Given the description of an element on the screen output the (x, y) to click on. 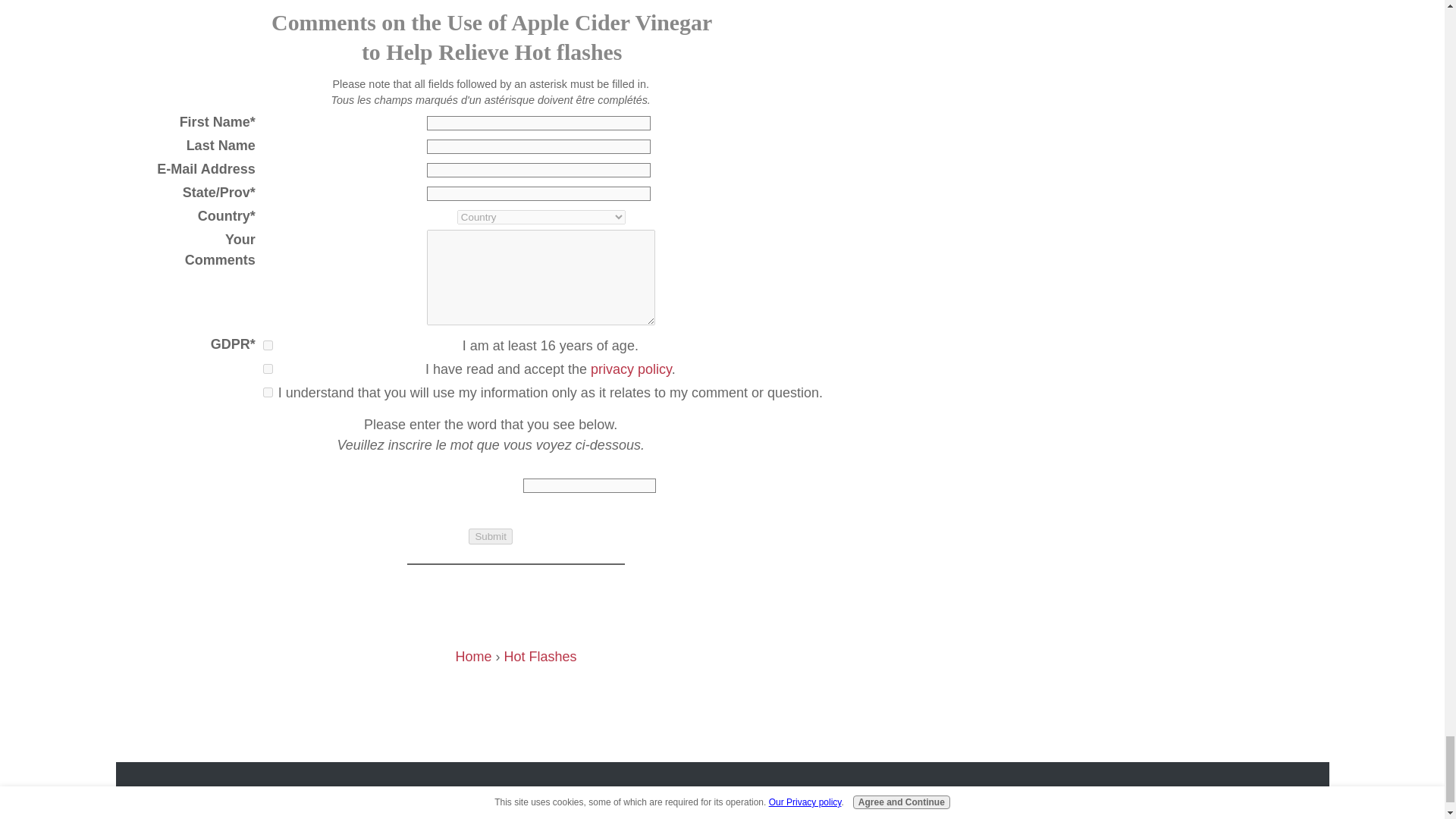
I am at least 16 years of age. (268, 345)
Submit (490, 536)
